Given the description of an element on the screen output the (x, y) to click on. 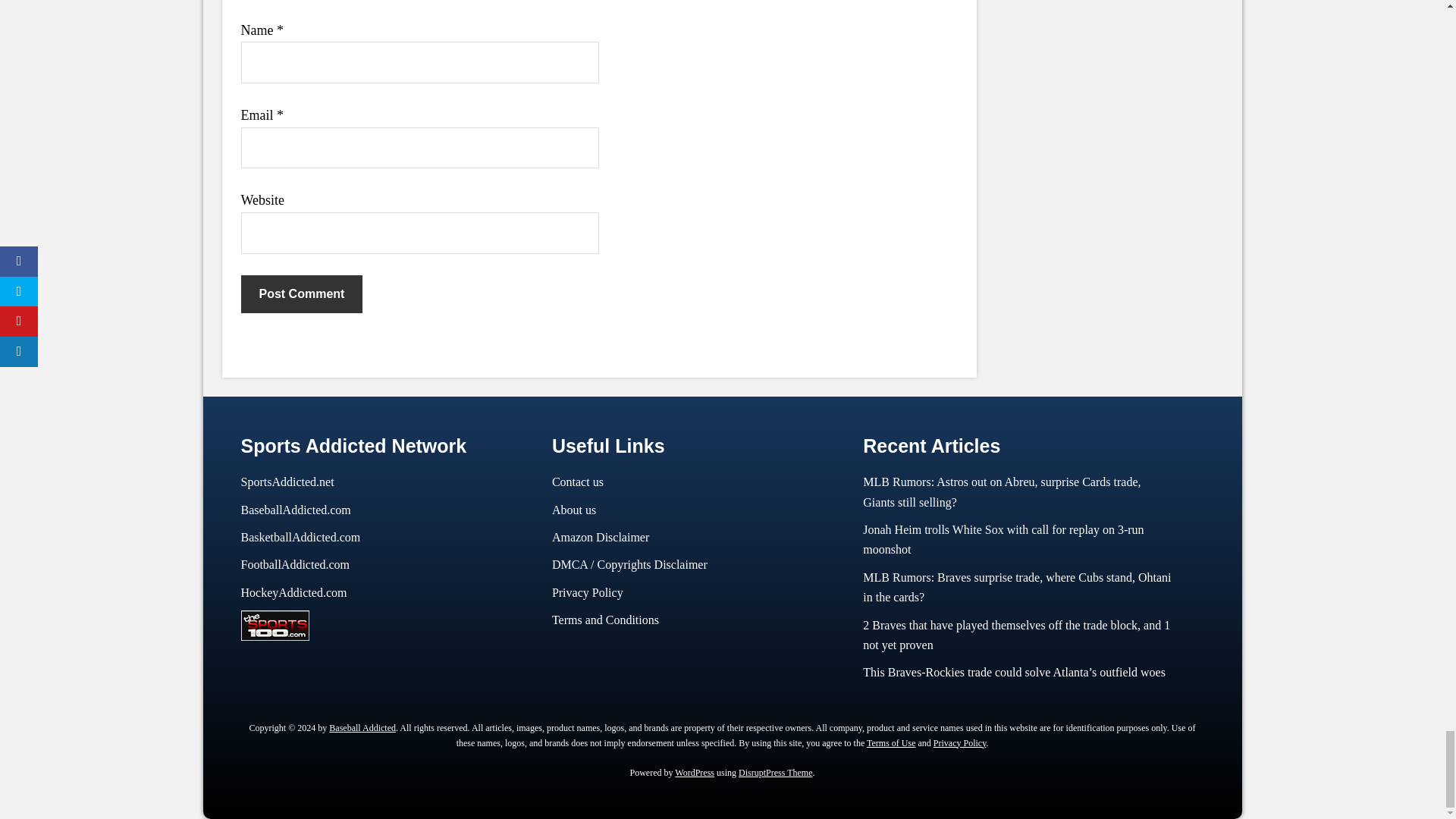
Post Comment (301, 293)
